Given the description of an element on the screen output the (x, y) to click on. 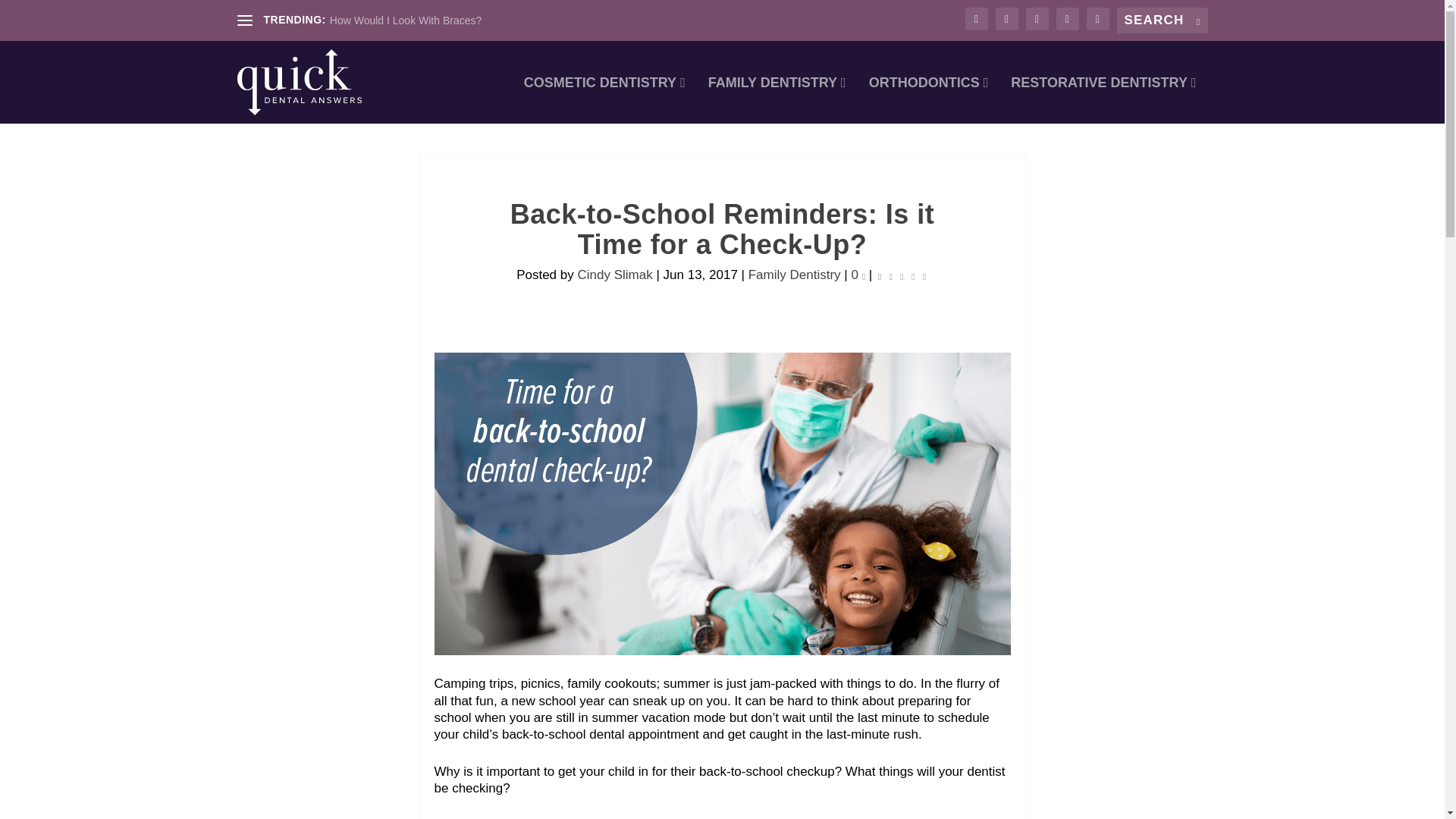
ORTHODONTICS (928, 99)
FAMILY DENTISTRY (776, 99)
Rating: 0.00 (902, 275)
RESTORATIVE DENTISTRY (1102, 99)
comment count (862, 276)
Search for: (1161, 20)
How Would I Look With Braces? (405, 20)
Posts by Cindy Slimak (614, 274)
COSMETIC DENTISTRY (604, 99)
